Given the description of an element on the screen output the (x, y) to click on. 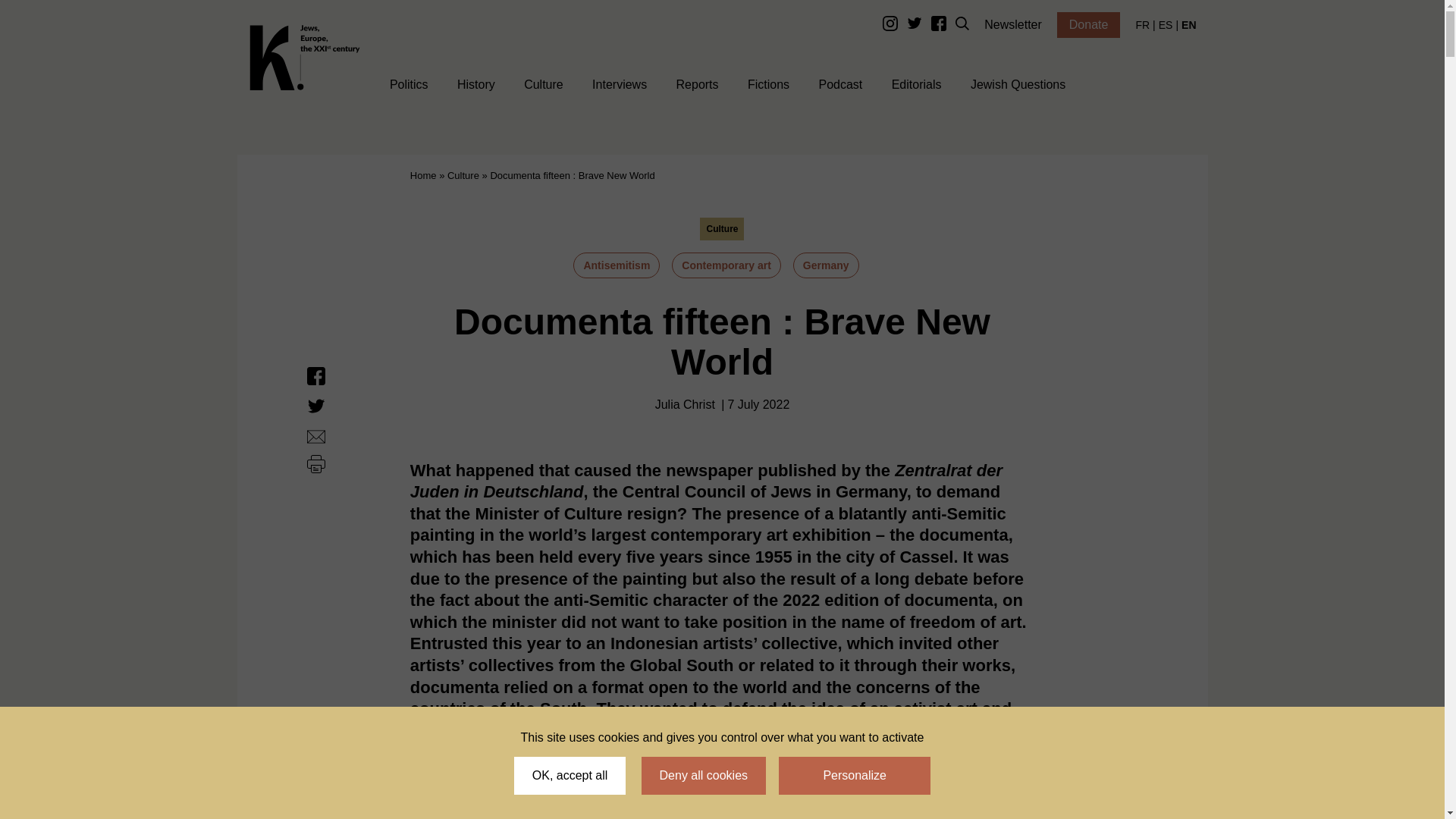
Antisemitism (616, 265)
twitter (914, 26)
Culture (543, 86)
Jewish Questions (1018, 86)
Partager par email (314, 436)
Podcast (839, 86)
History (476, 86)
Editorials (916, 86)
Politics (409, 86)
Culture (462, 175)
Donate (1089, 24)
ES (1165, 24)
Contemporary art (725, 265)
FR (1142, 24)
facebook (938, 26)
